Given the description of an element on the screen output the (x, y) to click on. 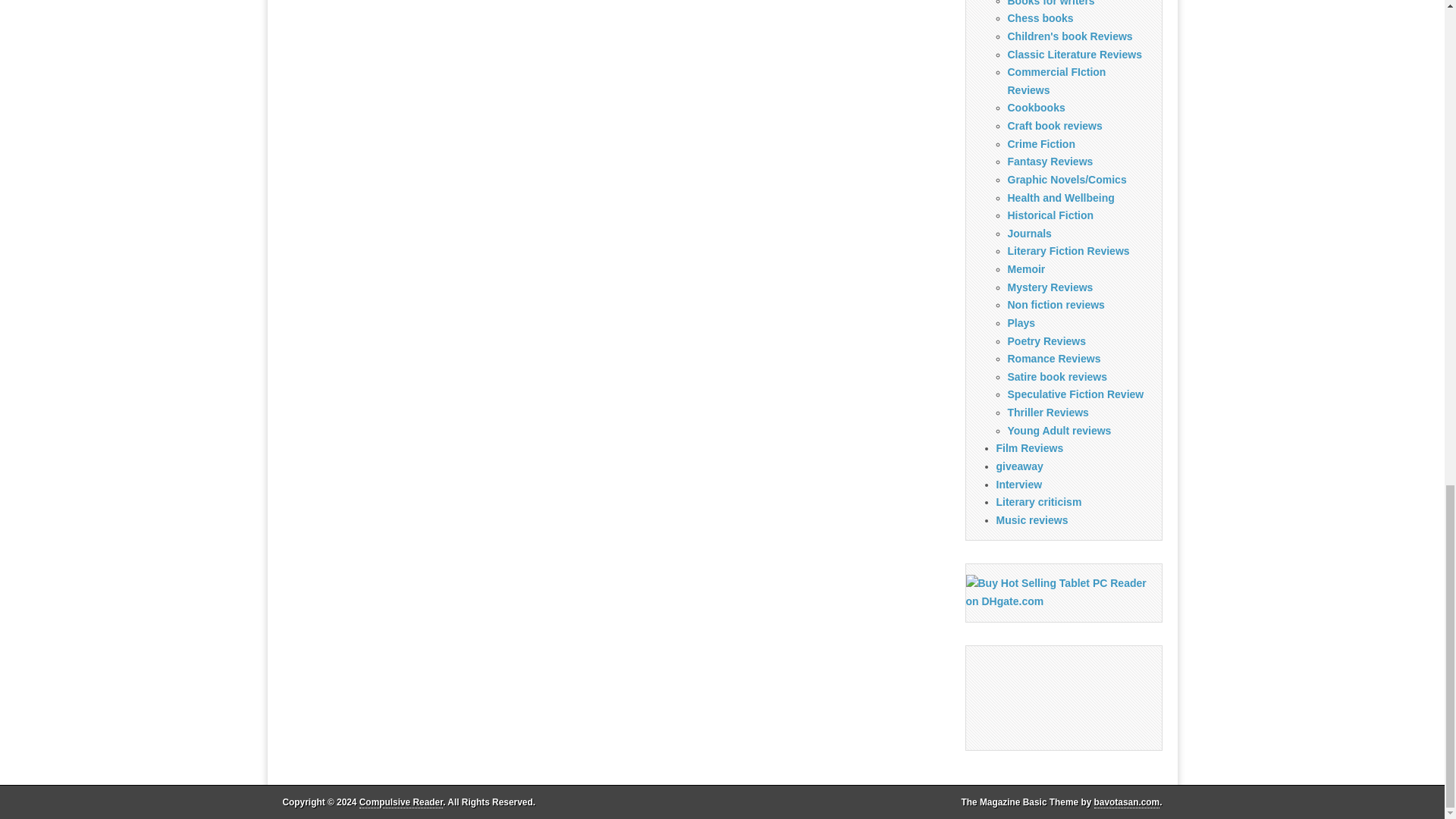
Health and Wellbeing (1060, 197)
Chess books (1040, 18)
Books for writers (1050, 3)
Craft book reviews (1054, 125)
Commercial FIction Reviews (1056, 81)
Children's book Reviews (1069, 36)
Classic Literature Reviews (1074, 54)
Fantasy Reviews (1050, 161)
Crime Fiction (1040, 143)
Cookbooks (1035, 107)
